Given the description of an element on the screen output the (x, y) to click on. 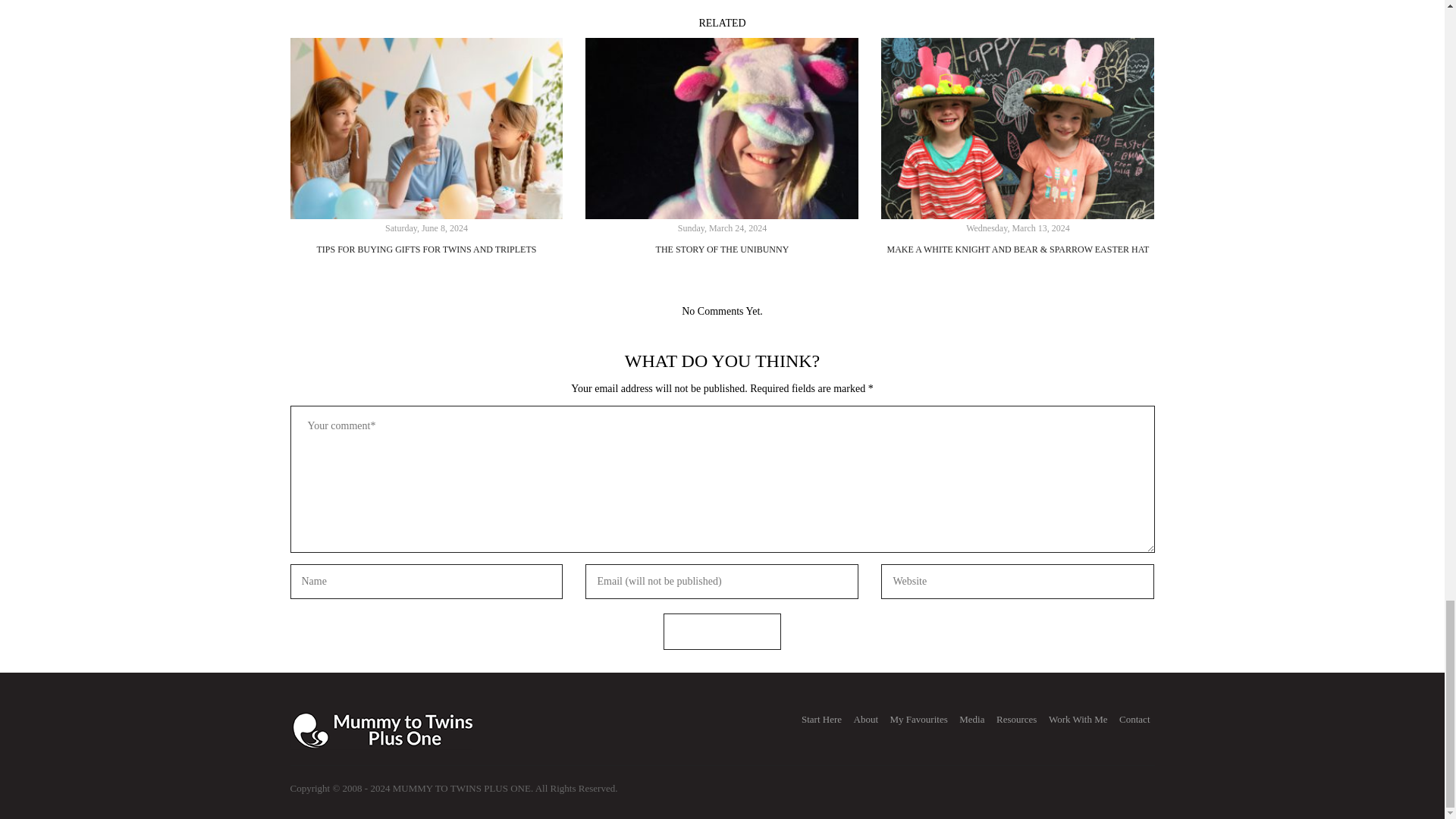
The Story of the Unibunny (722, 128)
Tips for buying gifts for twins and triplets (425, 128)
Post comment (721, 631)
